Given the description of an element on the screen output the (x, y) to click on. 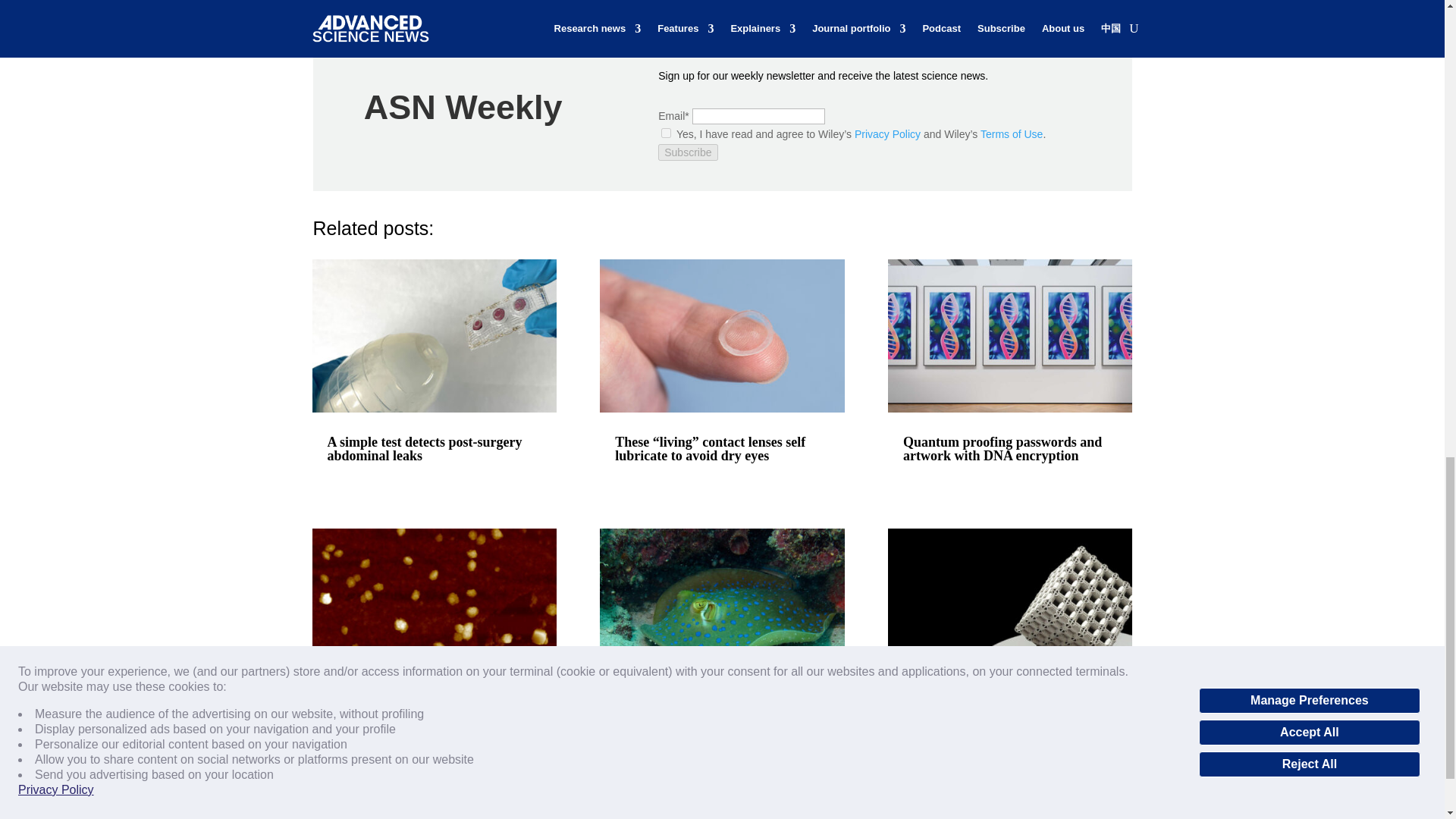
true (666, 132)
